Given the description of an element on the screen output the (x, y) to click on. 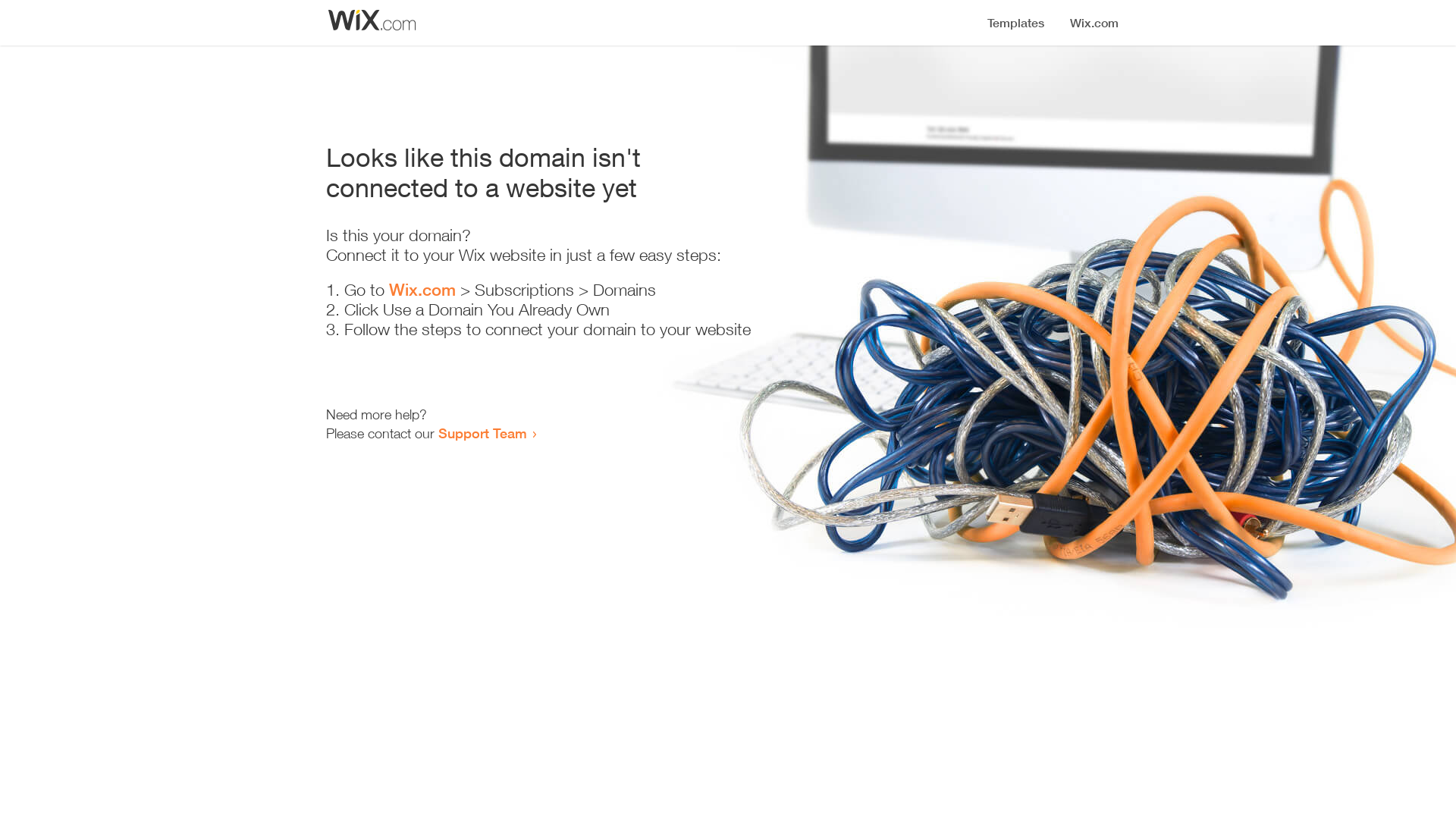
Wix.com Element type: text (422, 289)
Support Team Element type: text (482, 432)
